Given the description of an element on the screen output the (x, y) to click on. 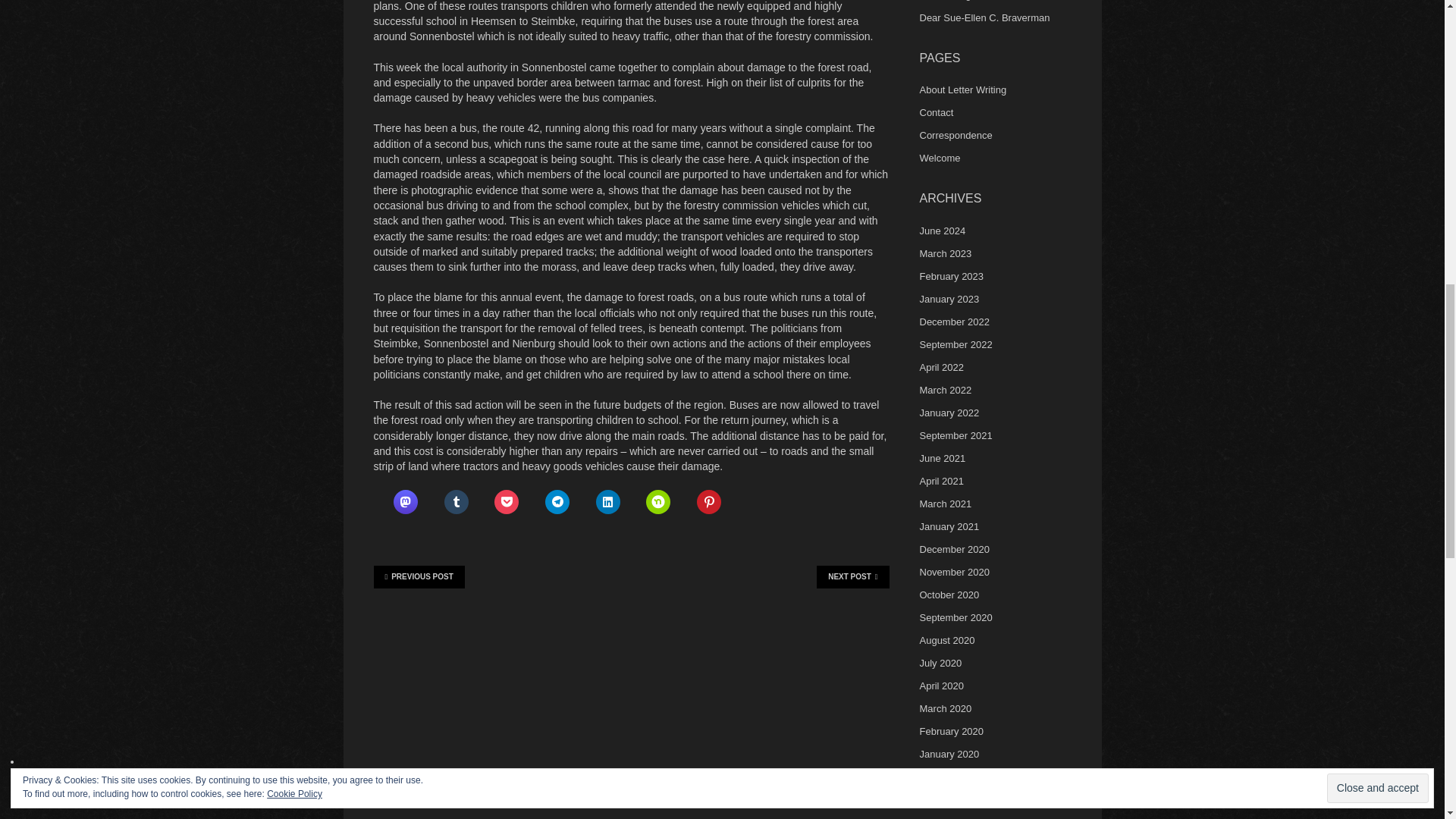
About Letter Writing (962, 89)
December 2022 (954, 321)
Click to share on Pinterest (708, 501)
Click to share on LinkedIn (607, 501)
Dear Sue-Ellen C. Braverman (983, 17)
February 2023 (951, 276)
January 2023 (948, 298)
Click to share on Mastodon (405, 501)
Welcome (938, 157)
